Given the description of an element on the screen output the (x, y) to click on. 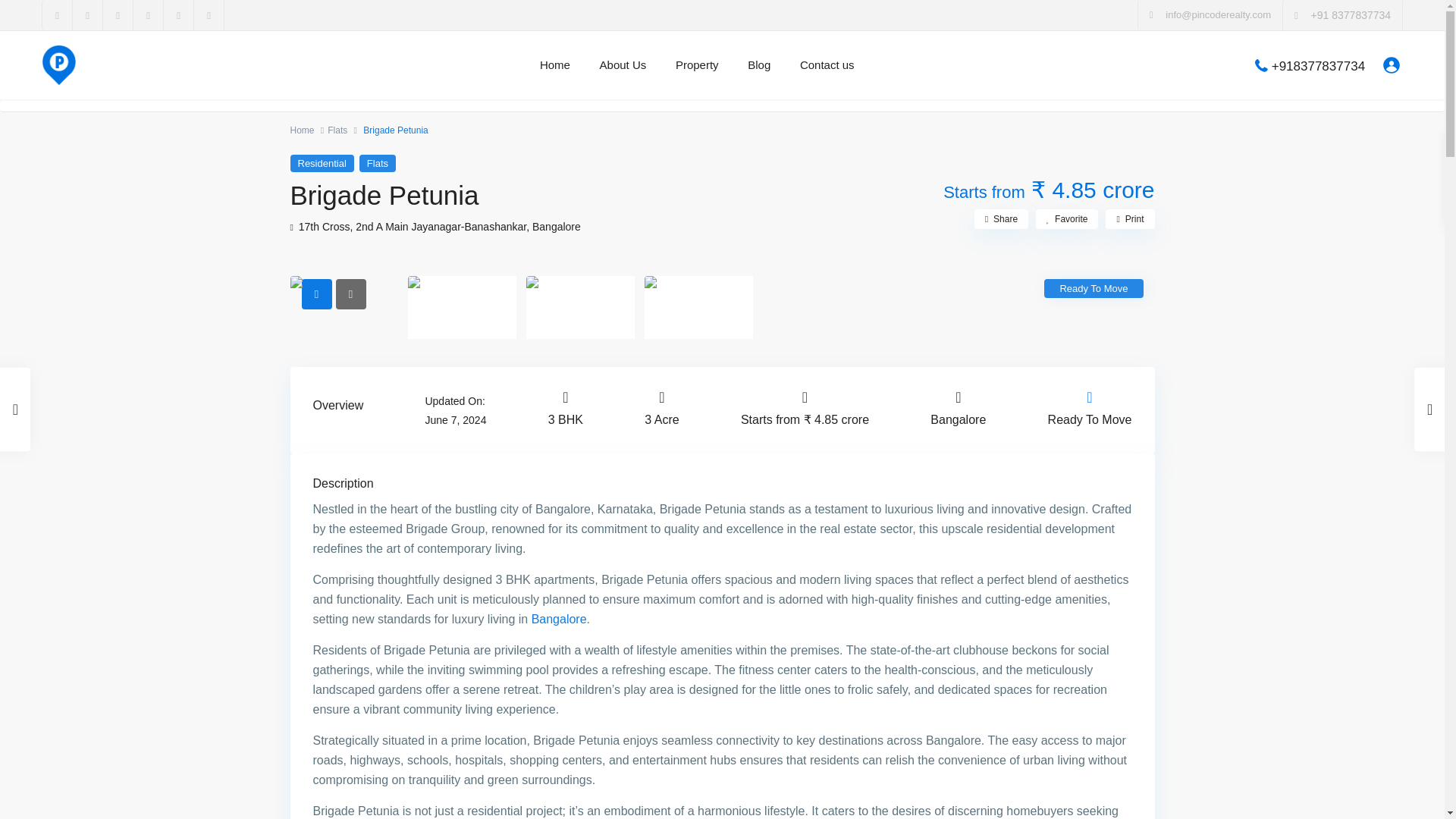
Residential (321, 163)
Contact us (827, 65)
Property (696, 65)
About Us (623, 65)
Bangalore (556, 226)
Home (301, 130)
Flats (337, 130)
Flats (377, 163)
